Given the description of an element on the screen output the (x, y) to click on. 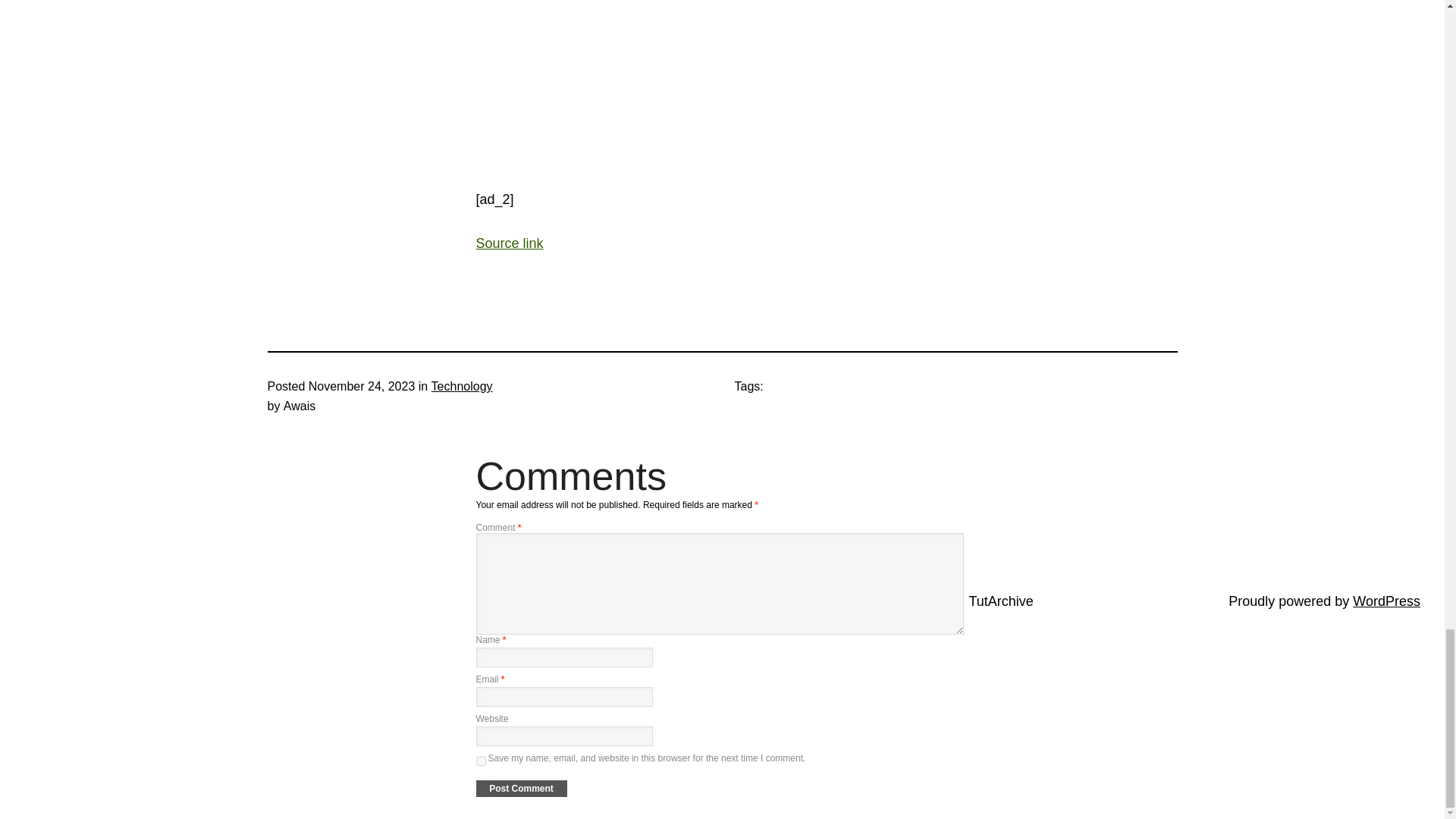
yes (481, 760)
Source link (509, 242)
TutArchive (1001, 601)
WordPress (1386, 601)
Post Comment (521, 788)
Technology (461, 386)
Post Comment (521, 788)
